Given the description of an element on the screen output the (x, y) to click on. 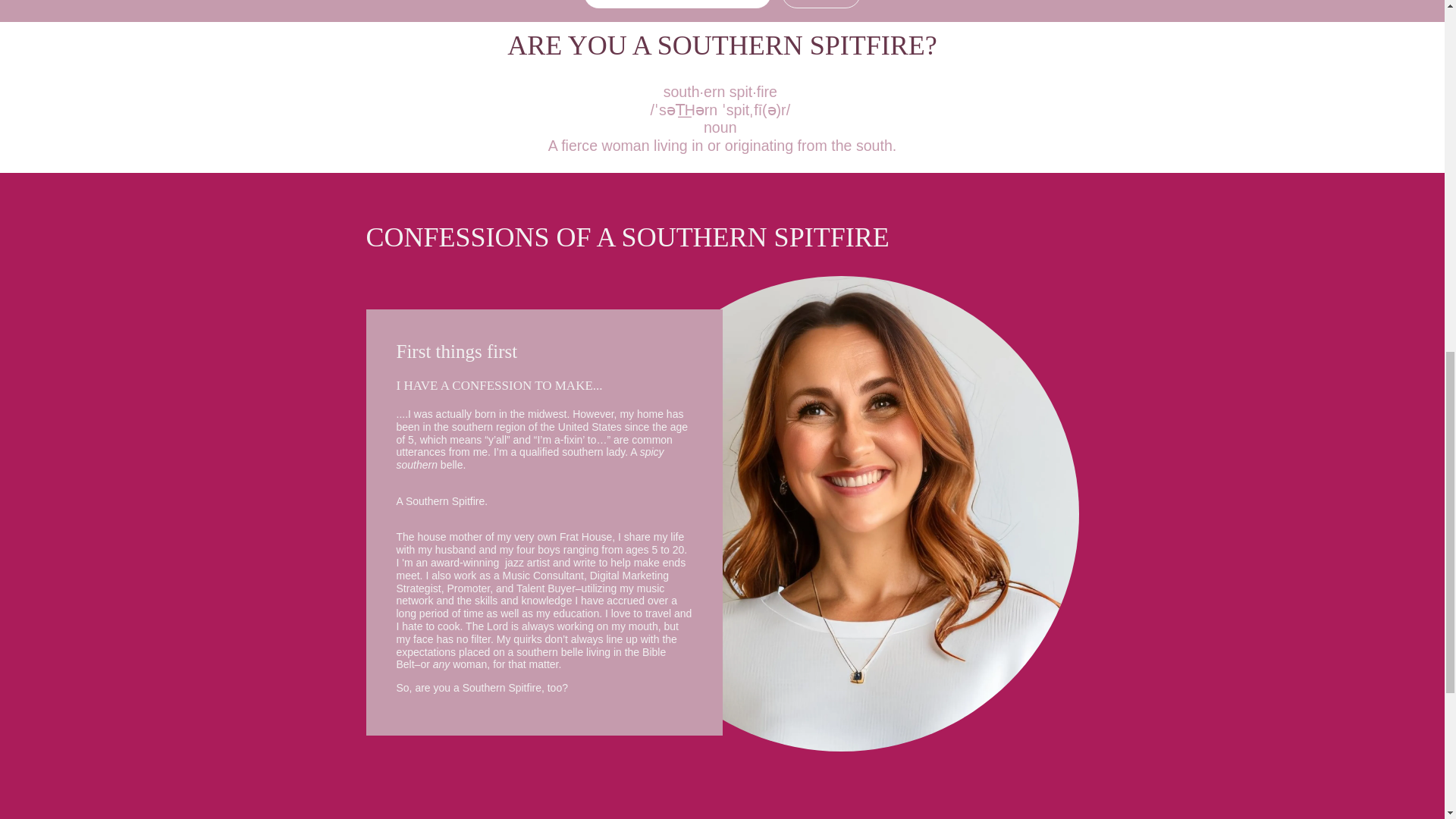
SIGN UP (820, 4)
